Given the description of an element on the screen output the (x, y) to click on. 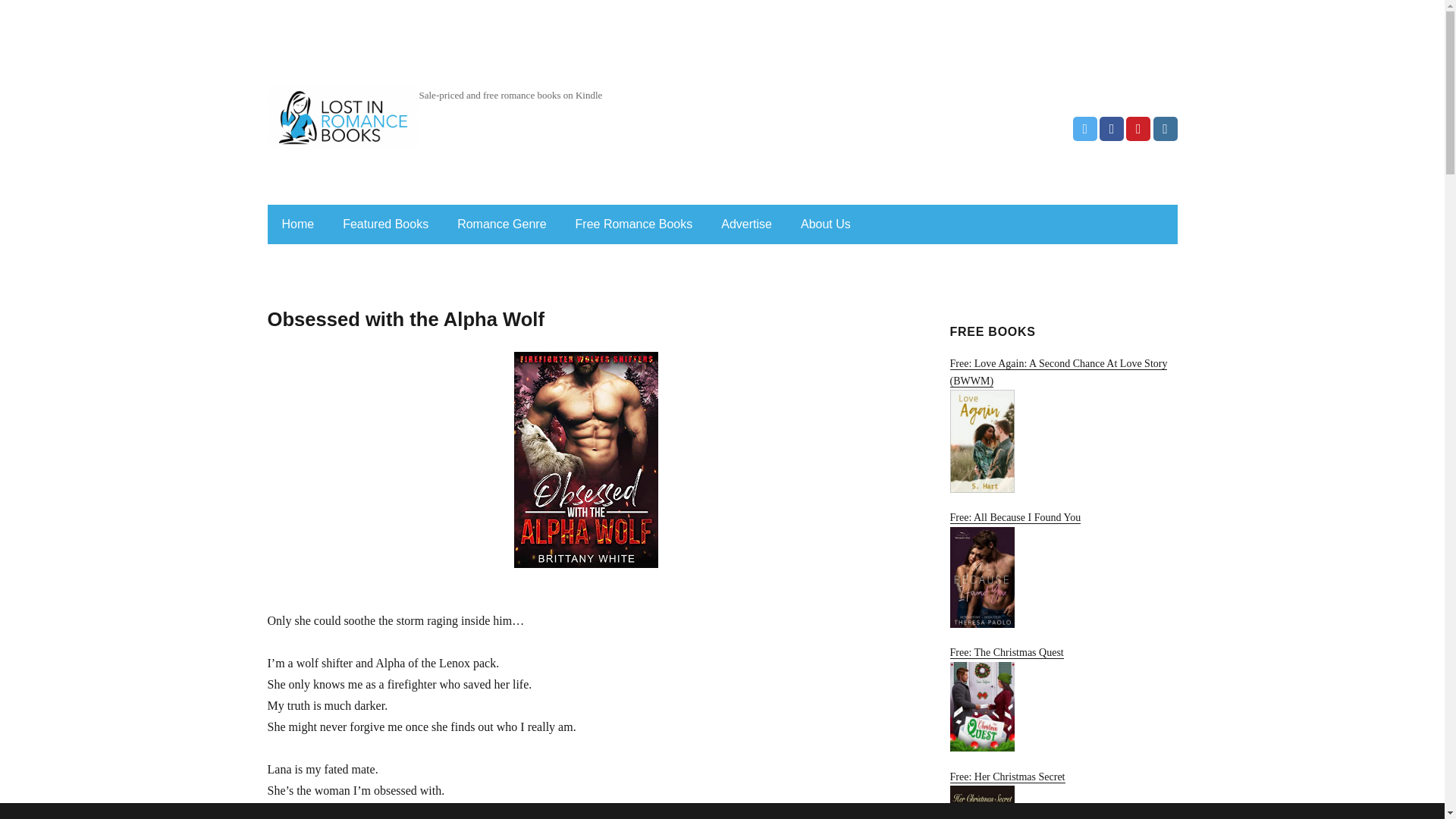
About Us (825, 224)
Home (297, 224)
Free: Her Christmas Secret (1062, 795)
Advertise (746, 224)
Twitter (1085, 128)
Pinterest (1137, 128)
Featured Books (385, 224)
Free: The Christmas Quest (1062, 699)
Facebook (1111, 128)
Romance Genre (501, 224)
